Given the description of an element on the screen output the (x, y) to click on. 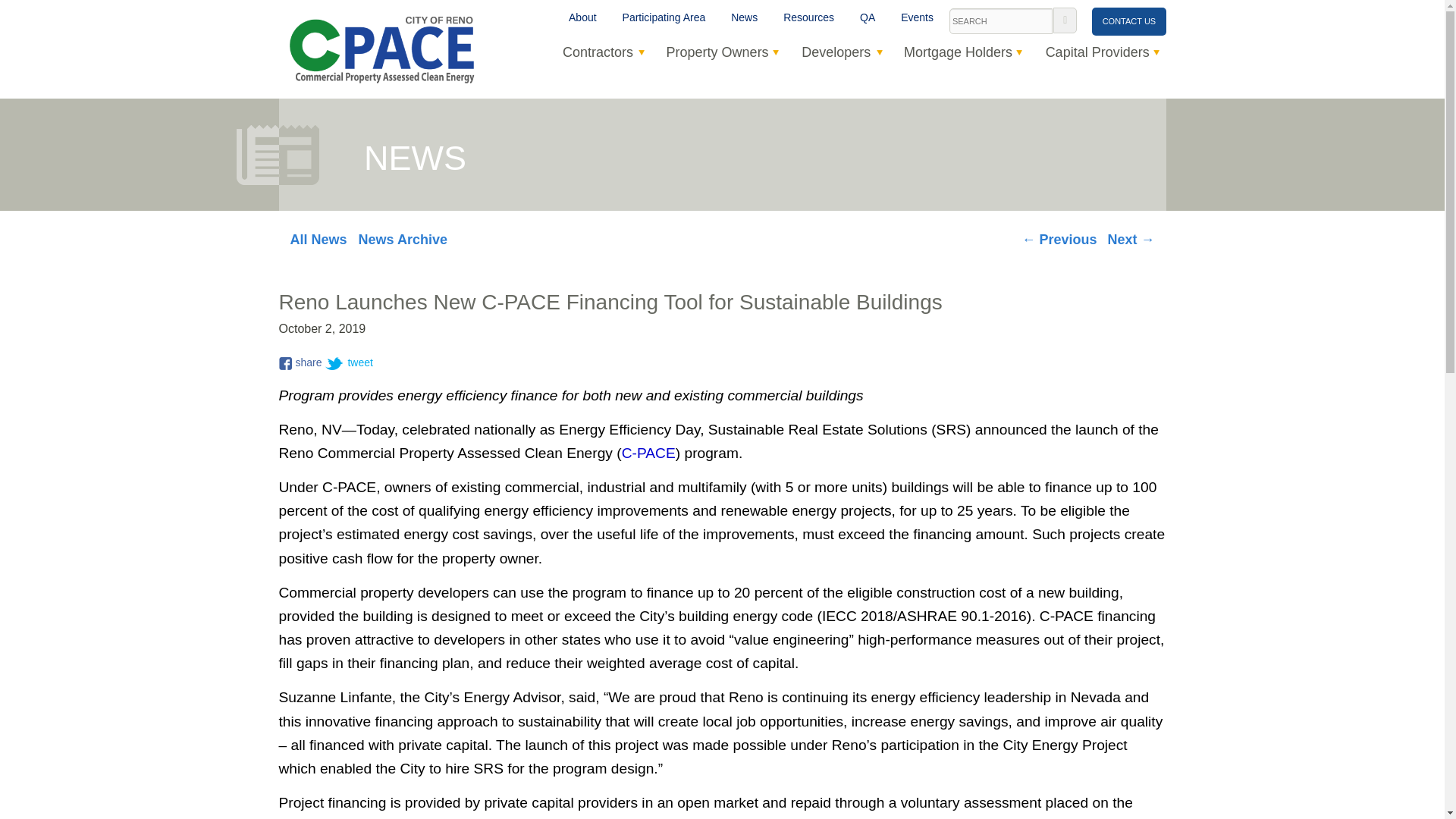
11:02 am (322, 329)
QA (867, 18)
Property Owners (717, 52)
Resources (808, 18)
Participating Area (664, 18)
News (743, 18)
Events (917, 18)
Contractors (597, 52)
City of Reno C-PACE (381, 47)
CONTACT US (1129, 21)
